Given the description of an element on the screen output the (x, y) to click on. 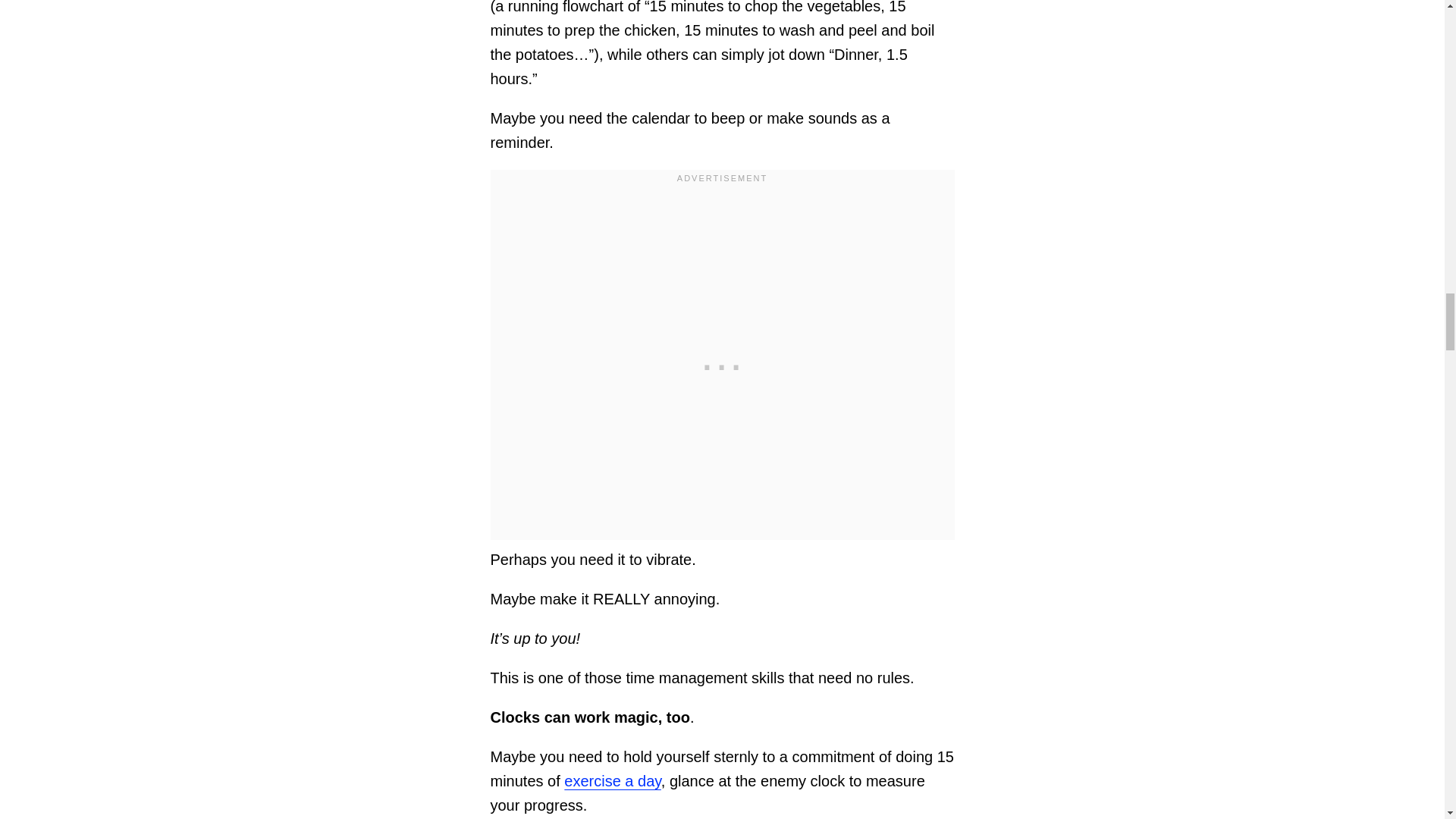
exercise a day (612, 781)
